Given the description of an element on the screen output the (x, y) to click on. 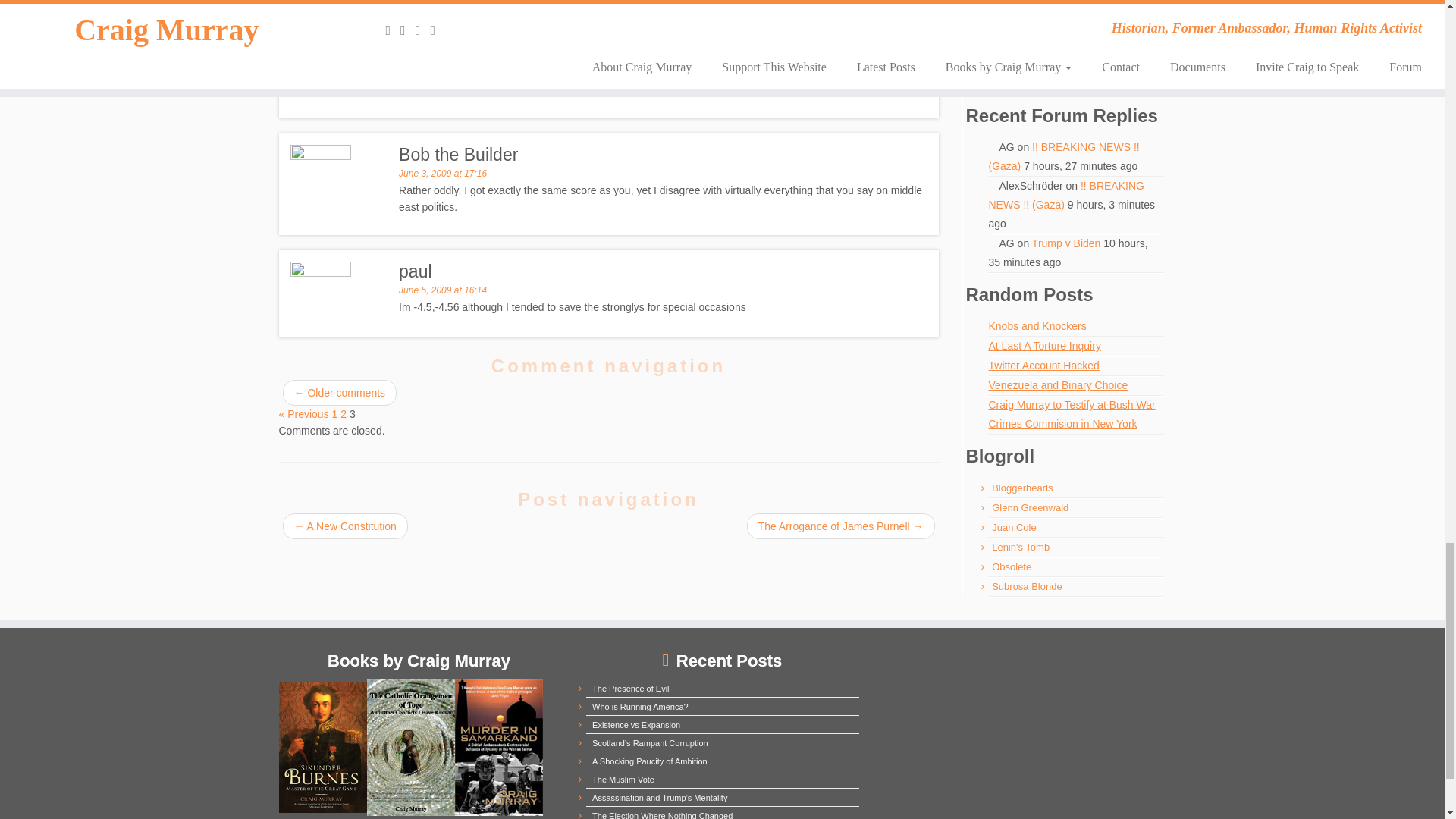
June 3, 2009 at 17:16 (442, 173)
June 1, 2009 at 23:44 (442, 6)
June 5, 2009 at 16:14 (442, 290)
